Given the description of an element on the screen output the (x, y) to click on. 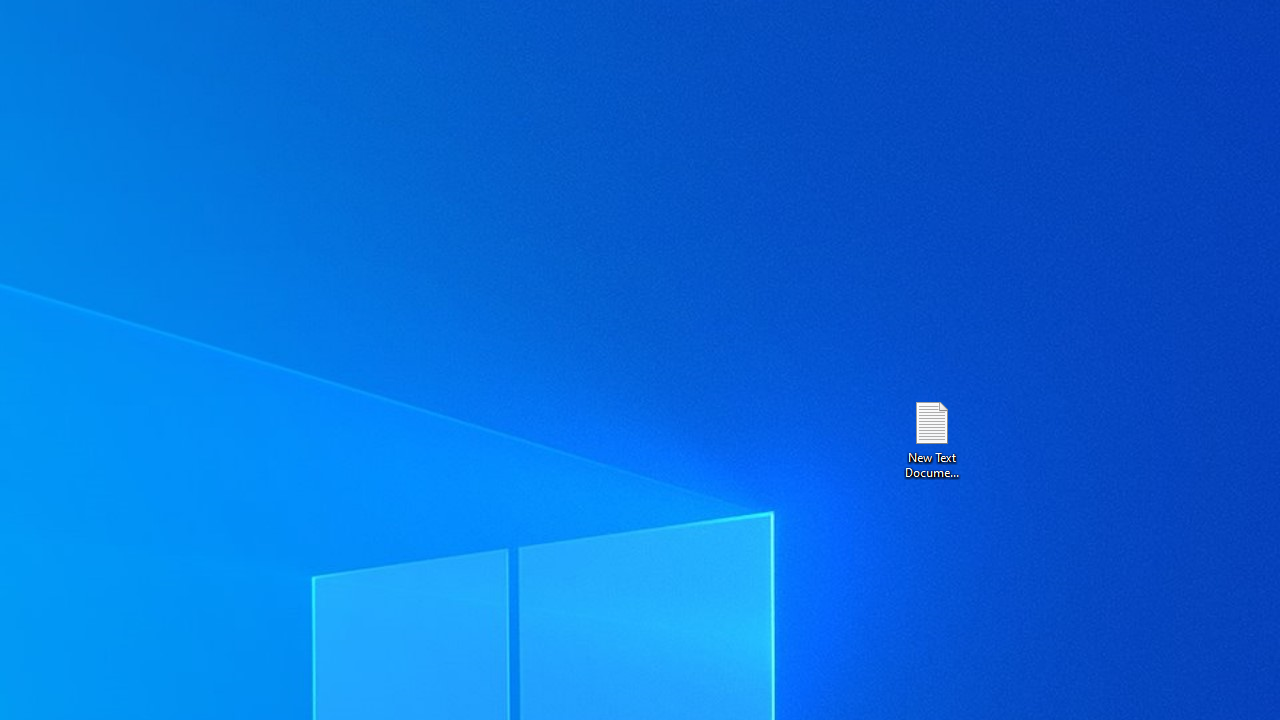
New Text Document (2) (931, 438)
